Given the description of an element on the screen output the (x, y) to click on. 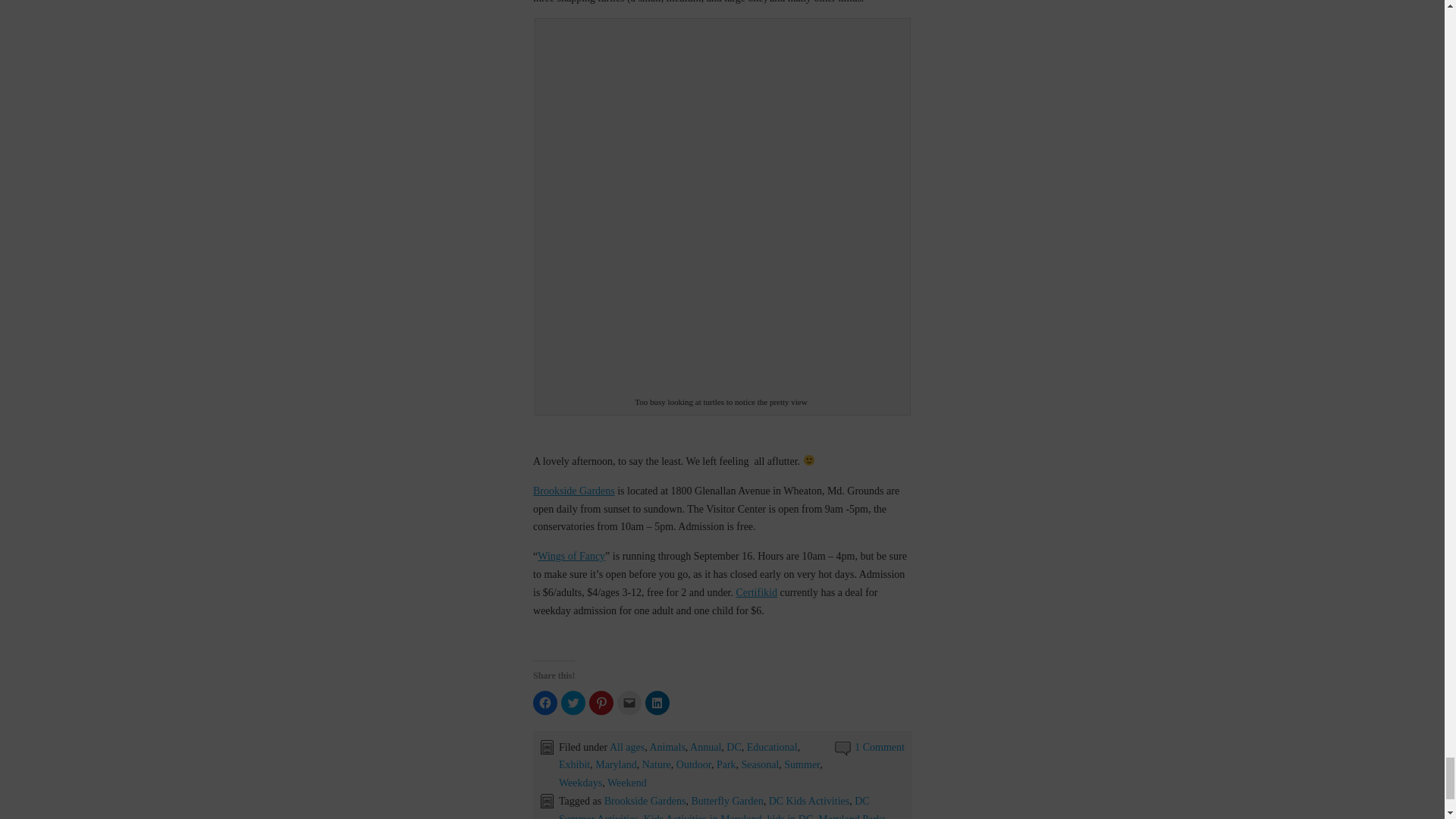
Click to share on Facebook (544, 702)
